Given the description of an element on the screen output the (x, y) to click on. 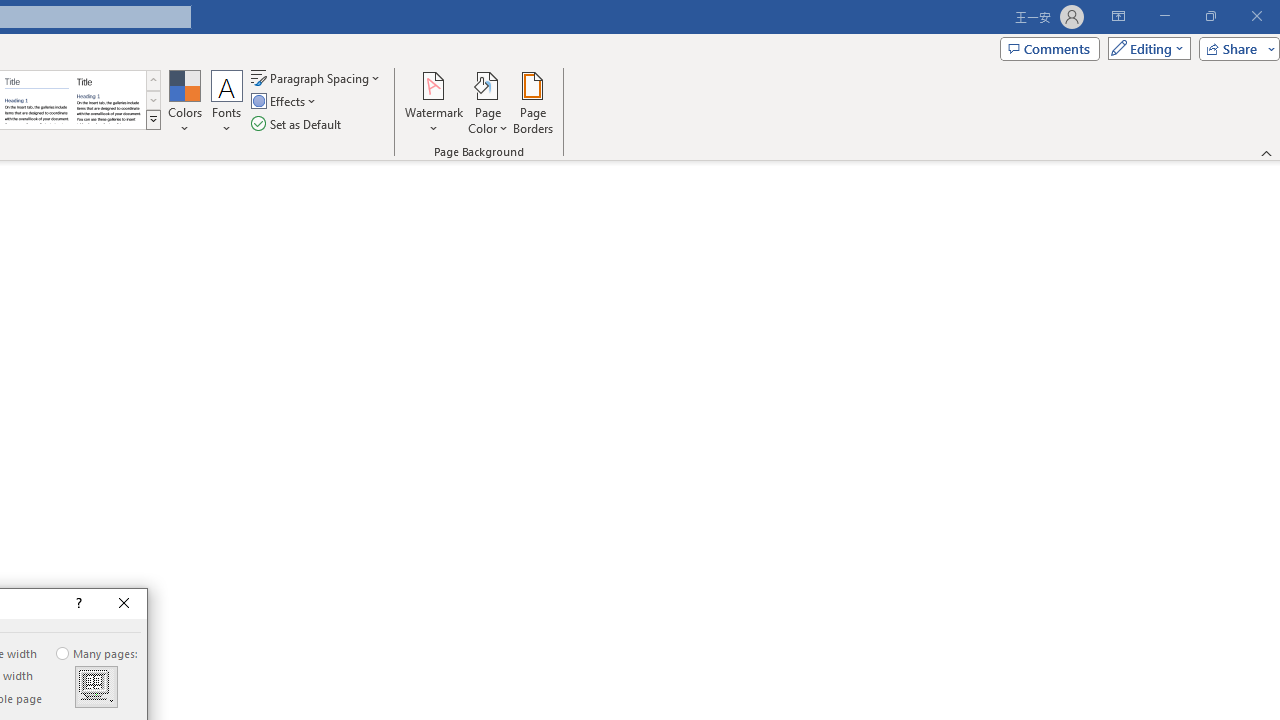
Style Set (153, 120)
Multiple Pages (96, 687)
Many pages: (98, 653)
MSO Generic Control Container (96, 687)
Page Color (487, 102)
Fonts (227, 102)
Word 2010 (36, 100)
